Given the description of an element on the screen output the (x, y) to click on. 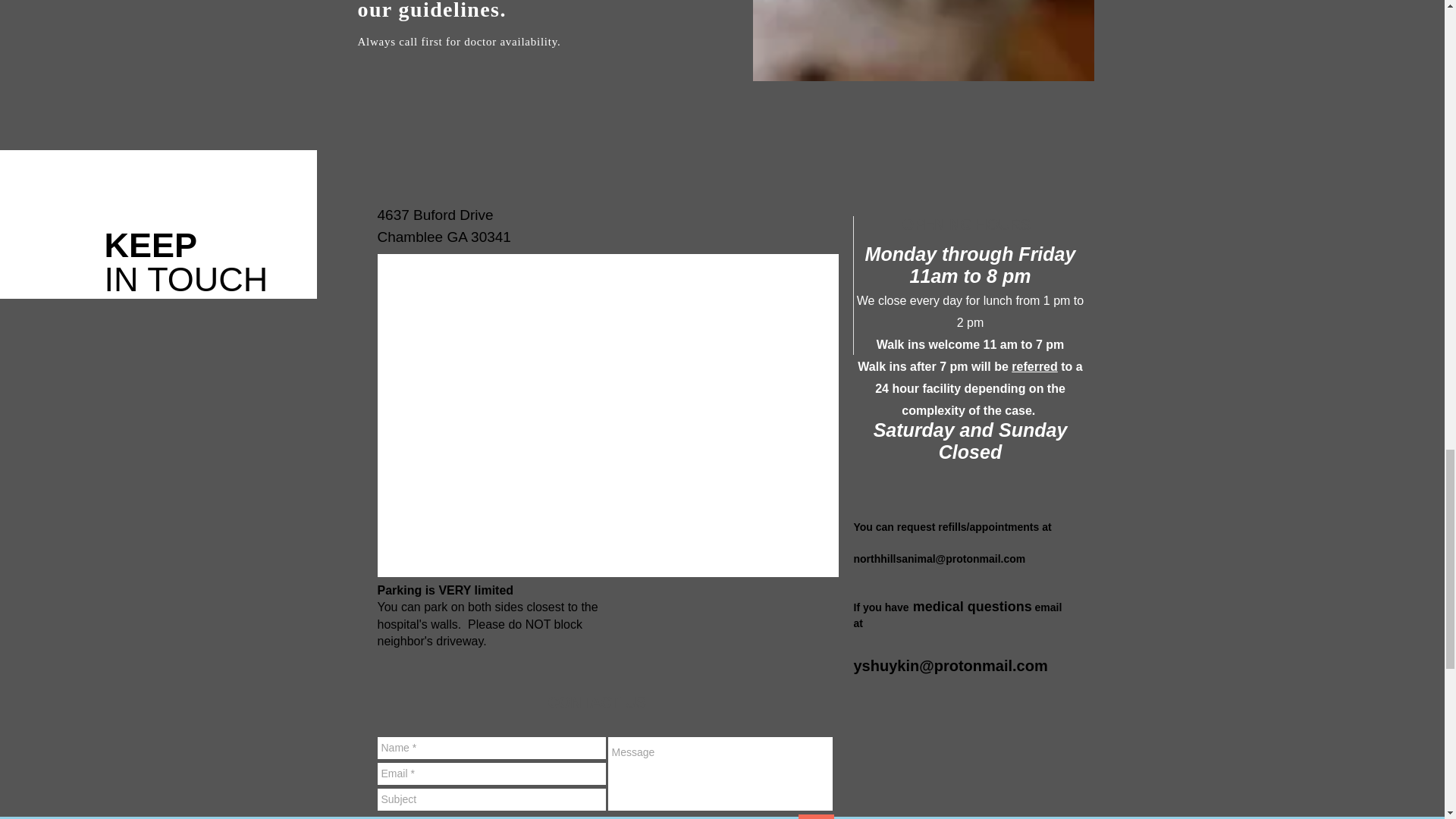
SEND (814, 816)
